Given the description of an element on the screen output the (x, y) to click on. 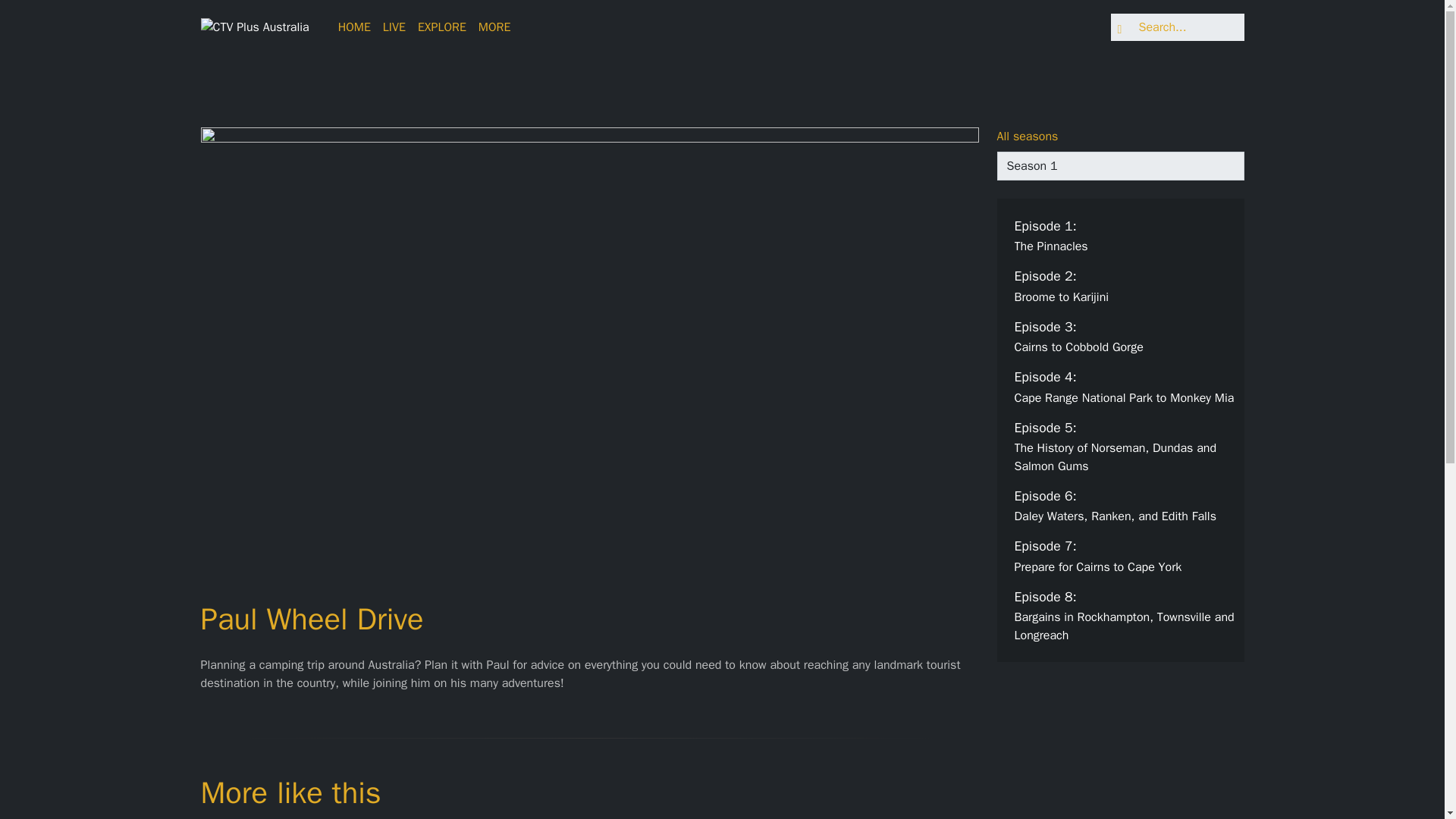
LIVE (394, 27)
Broome to Karijini (1125, 285)
Bargains in Rockhampton, Townsville and Longreach (1125, 386)
Prepare for Cairns to Cape York (1125, 615)
EXPLORE (1125, 615)
Daley Waters, Ranken, and Edith Falls (1125, 505)
HOME (1125, 555)
